Given the description of an element on the screen output the (x, y) to click on. 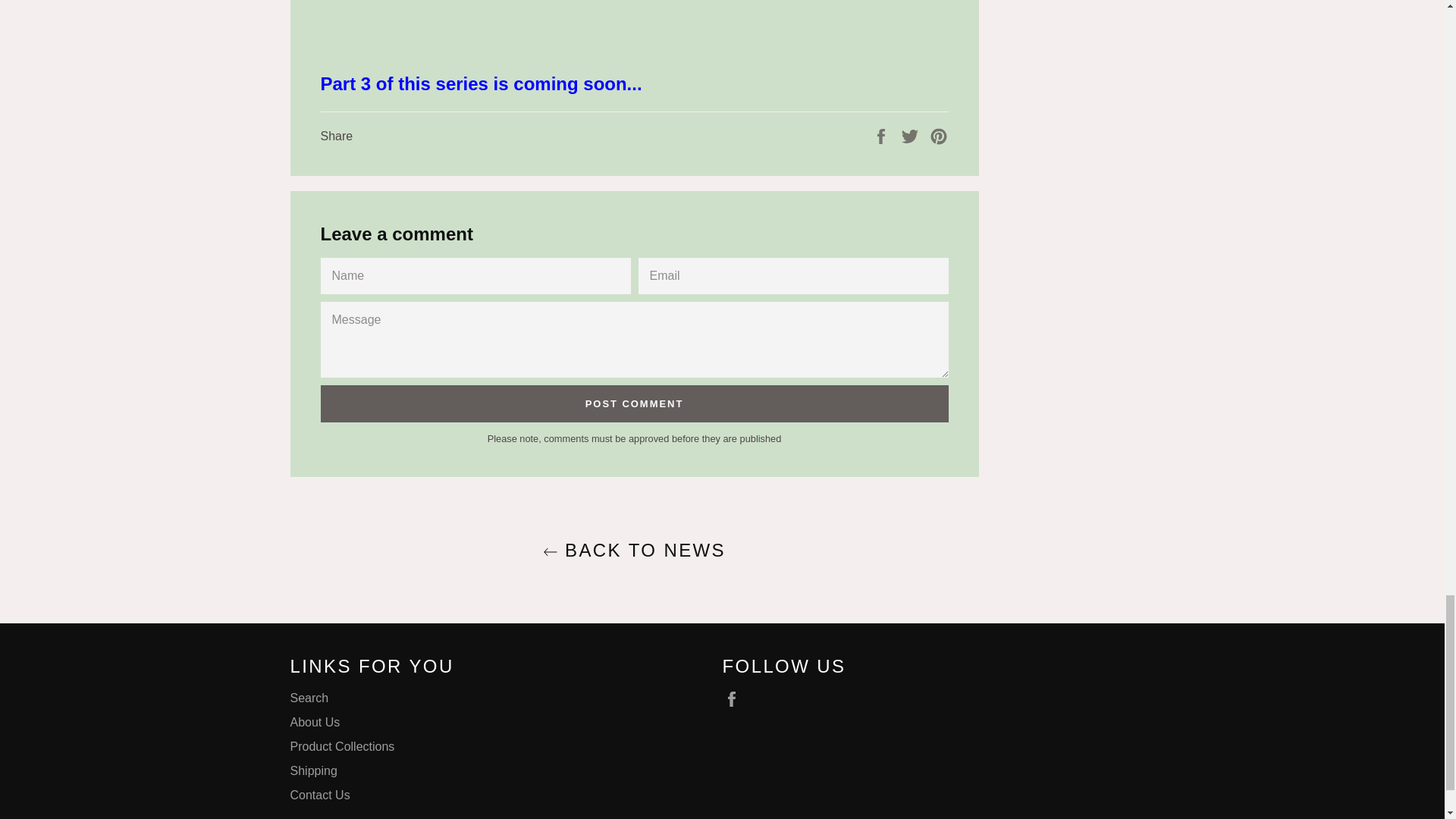
Post comment (633, 403)
Share on Facebook (882, 134)
Share on Facebook (882, 134)
Post comment (633, 403)
Pin on Pinterest (938, 134)
Tweet on Twitter (911, 134)
Pin on Pinterest (938, 134)
BACK TO NEWS (633, 549)
Tweet on Twitter (911, 134)
